Given the description of an element on the screen output the (x, y) to click on. 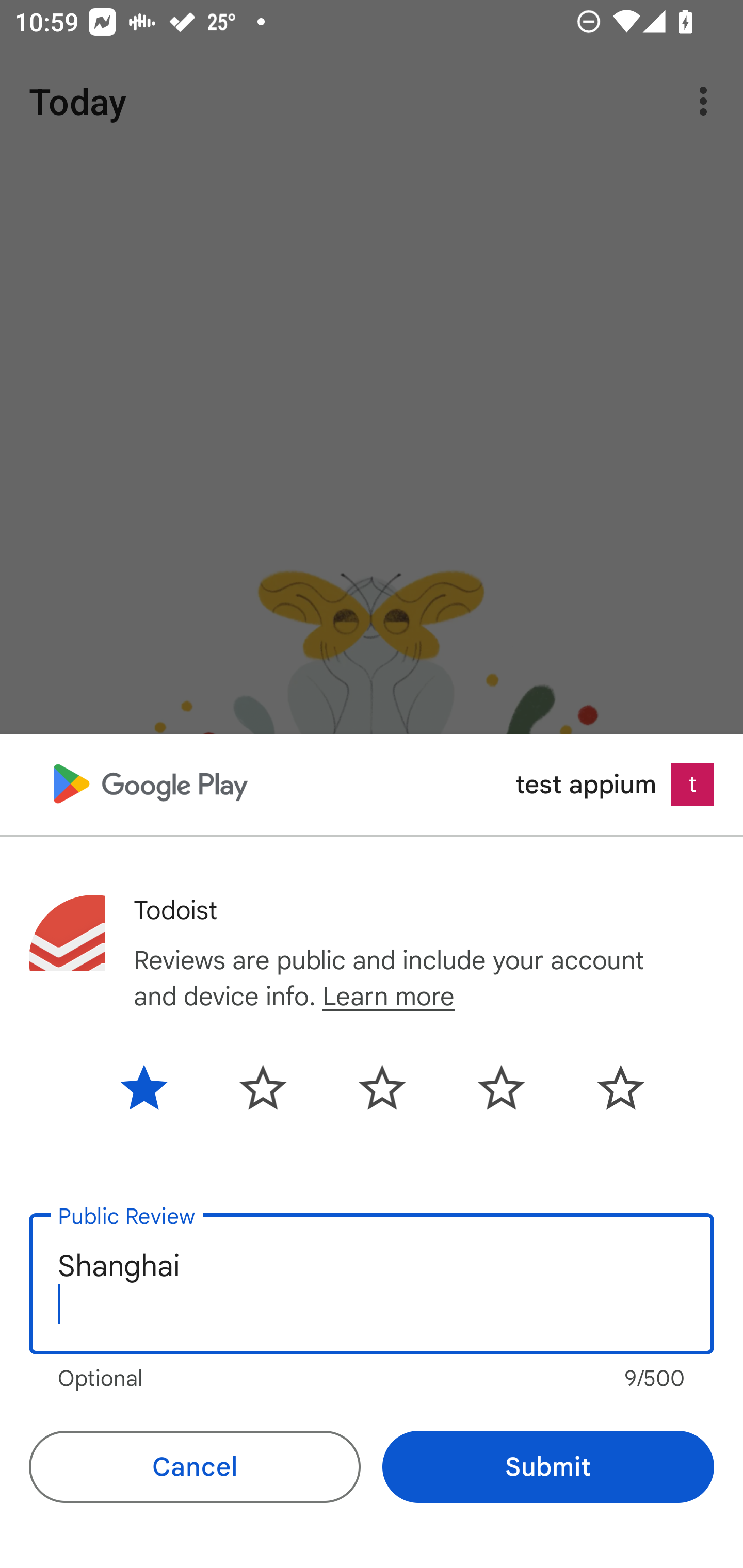
First star selected (159, 1087)
Second star unselected (262, 1087)
Third star unselected (381, 1087)
Fourth star unselected (500, 1087)
Fifth star unselected (604, 1087)
Shanghai
 (371, 1283)
Cancel (194, 1466)
Submit (548, 1466)
